Given the description of an element on the screen output the (x, y) to click on. 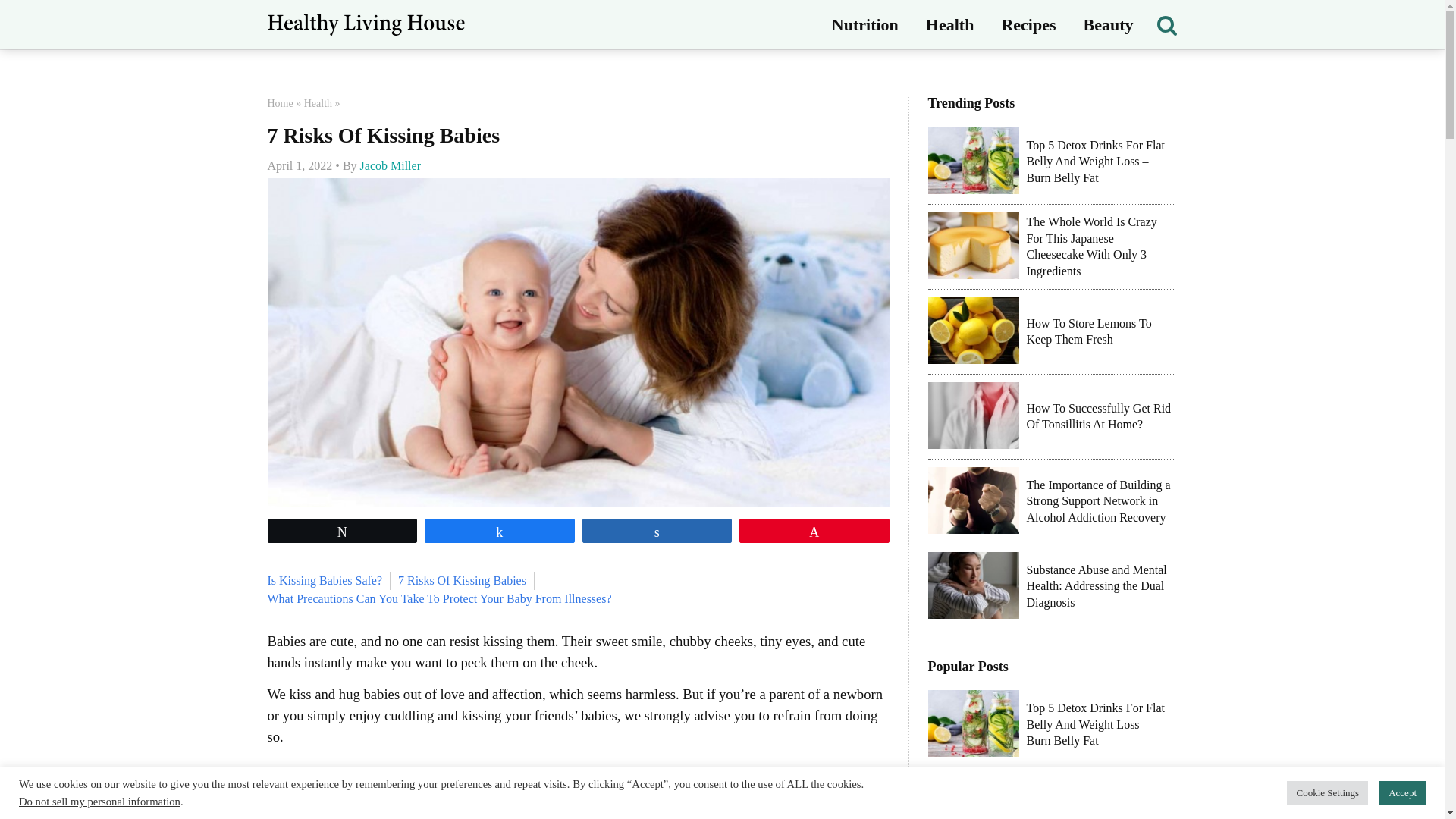
Recipes (1027, 24)
Health (950, 24)
Beauty (1107, 24)
Home (279, 102)
Is Kissing Babies Safe? (323, 580)
Nutrition (865, 24)
Jacob Miller (389, 164)
7 Risks Of Kissing Babies (461, 580)
Health (317, 102)
